Given the description of an element on the screen output the (x, y) to click on. 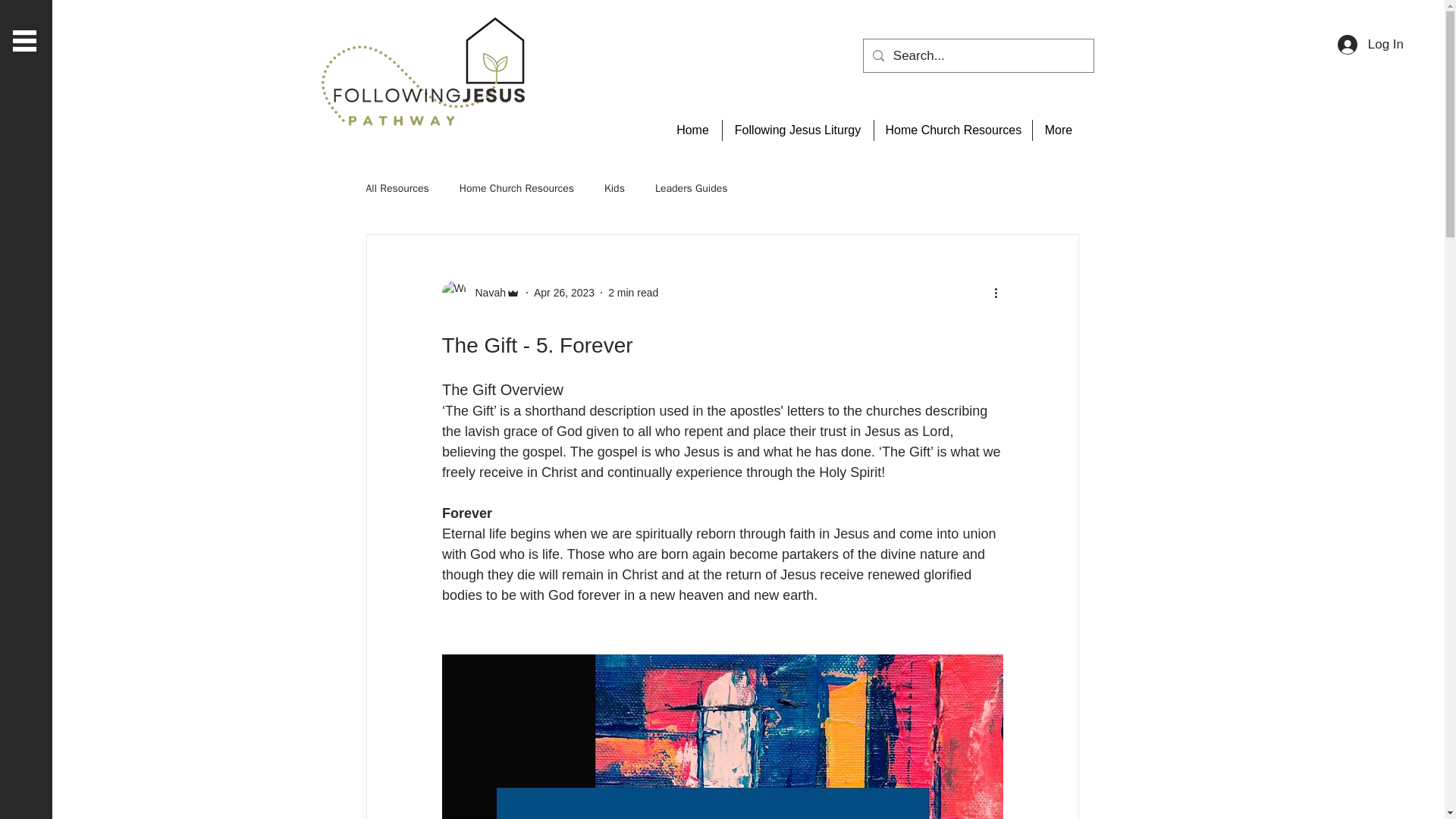
Navah (480, 292)
Following Jesus Liturgy (797, 129)
Navah  (485, 293)
Home Church Resources (952, 129)
All Resources (396, 188)
Apr 26, 2023 (564, 292)
2 min read (633, 292)
Home (692, 129)
Kids (614, 188)
Leaders Guides (691, 188)
